Given the description of an element on the screen output the (x, y) to click on. 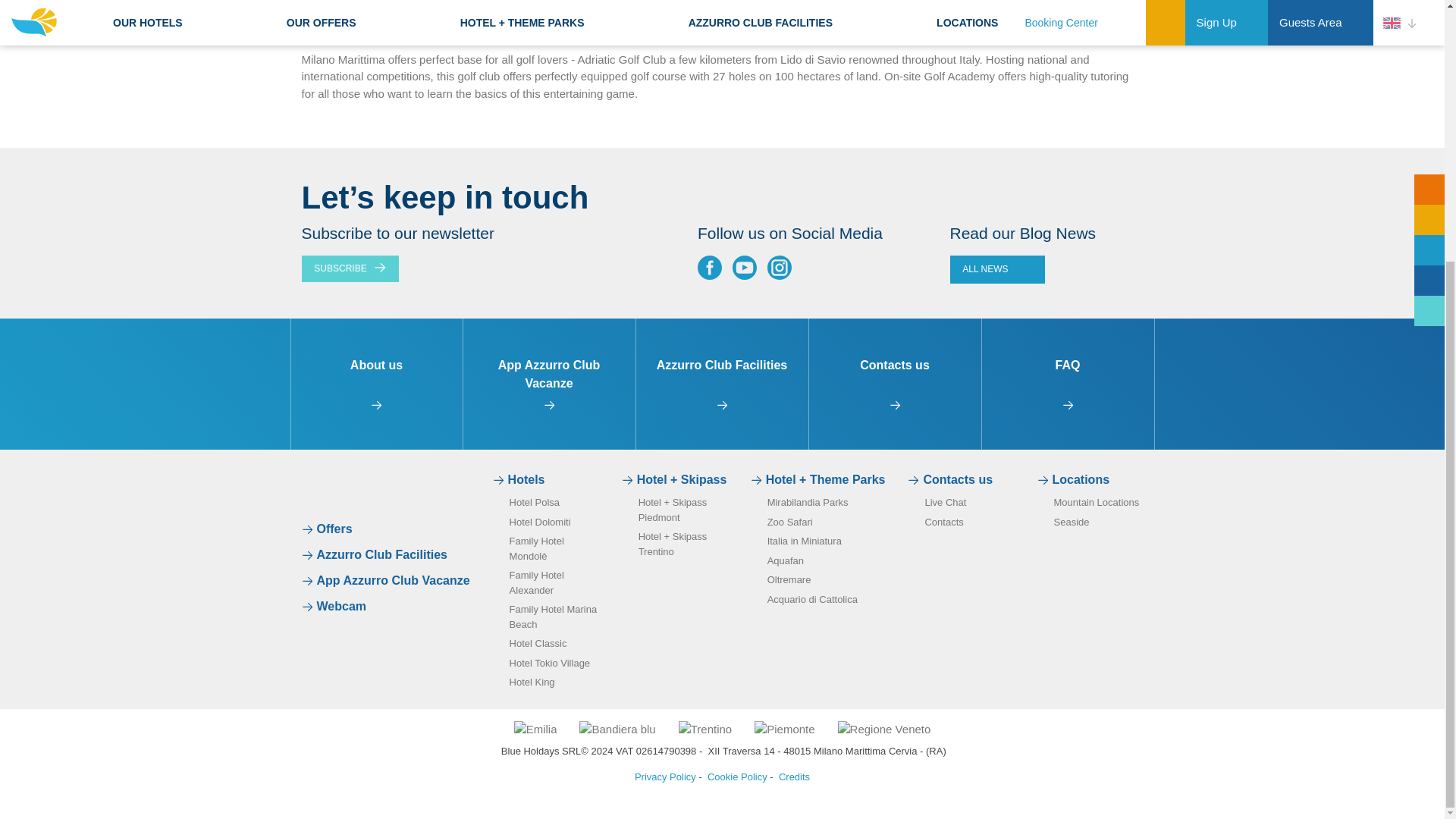
SUBSCRIBE (349, 268)
